Given the description of an element on the screen output the (x, y) to click on. 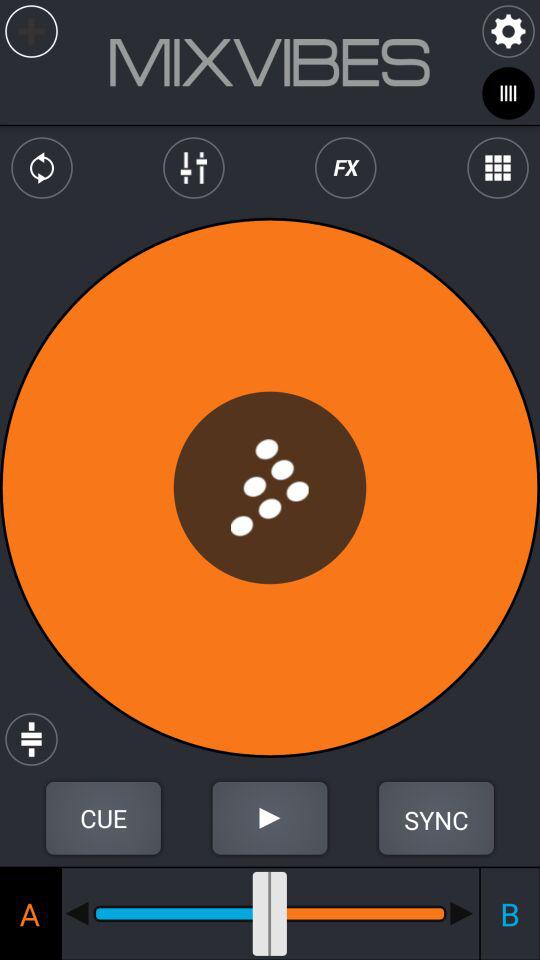
enables the sync feature (436, 818)
